Given the description of an element on the screen output the (x, y) to click on. 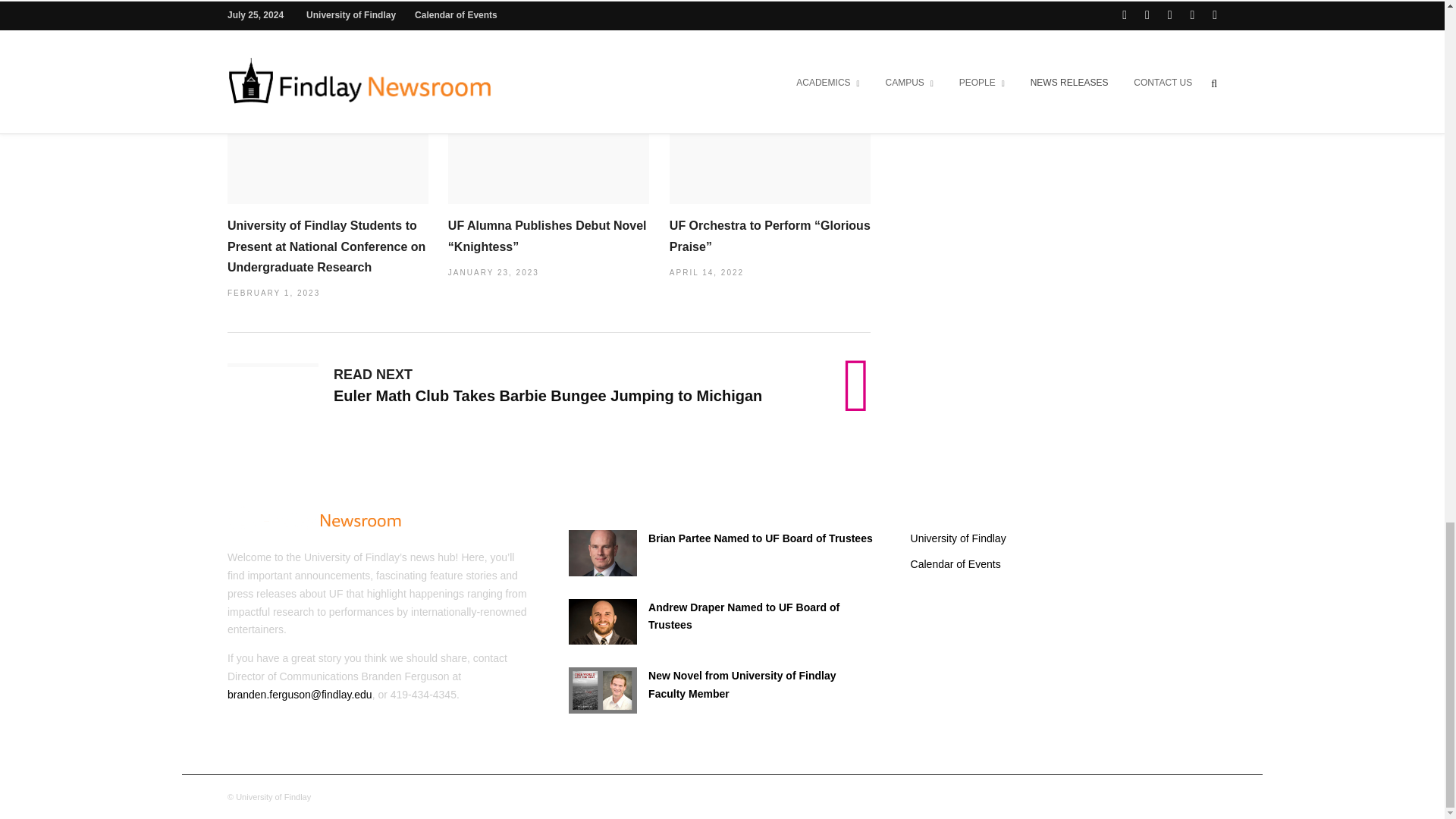
Youtube (1144, 797)
